Given the description of an element on the screen output the (x, y) to click on. 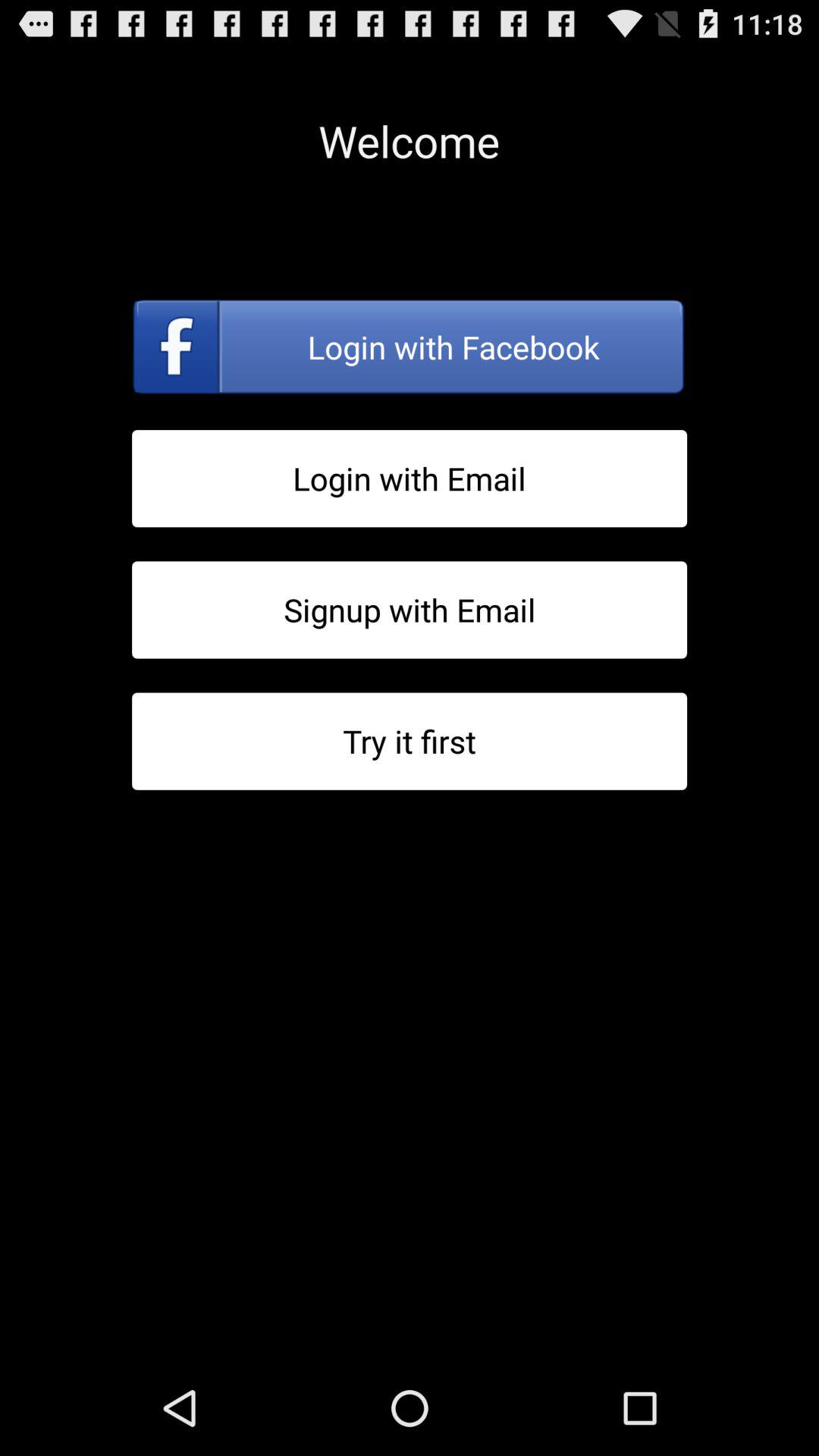
signup with email (409, 609)
